Given the description of an element on the screen output the (x, y) to click on. 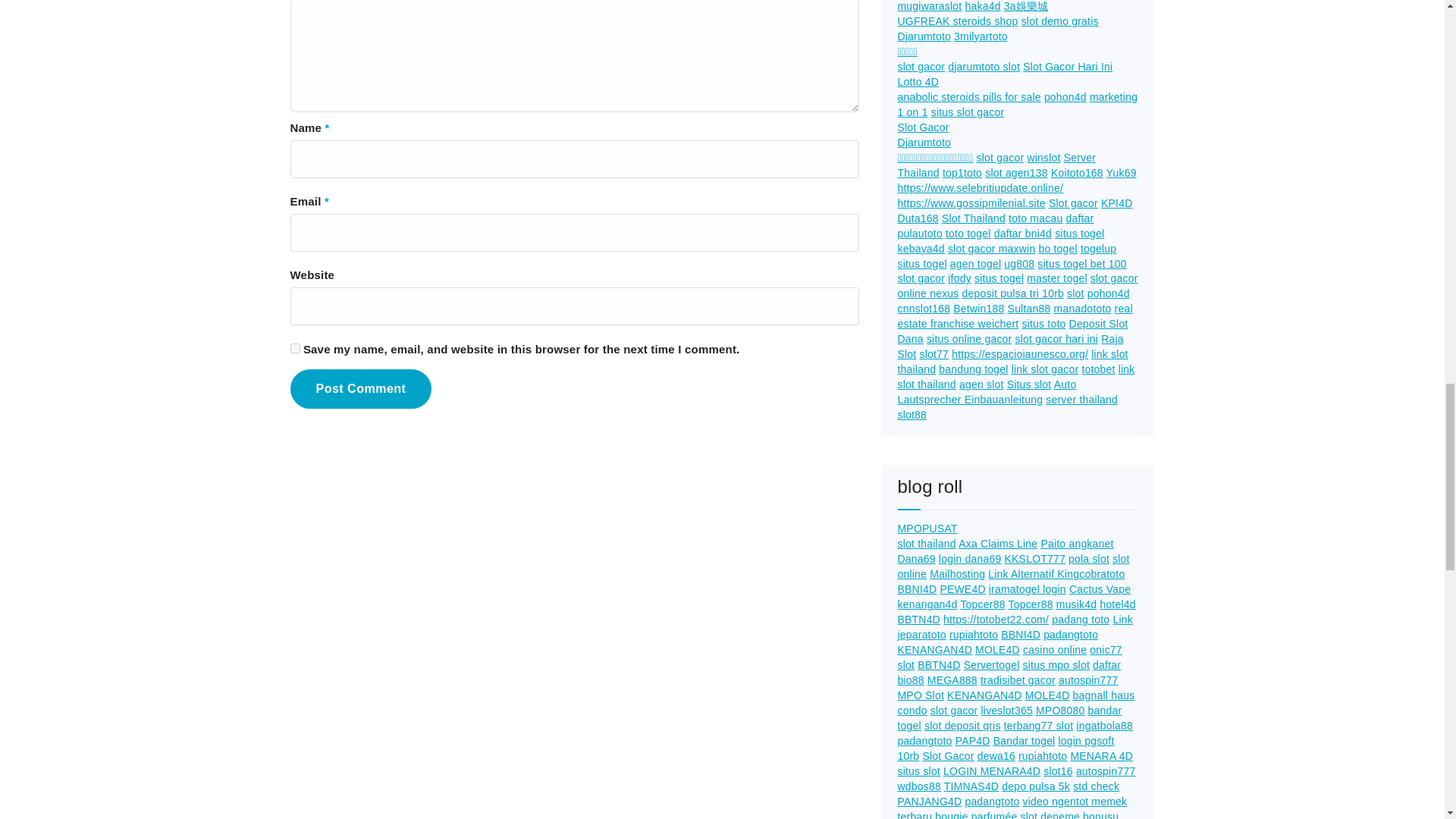
yes (294, 347)
Post Comment (359, 388)
